Given the description of an element on the screen output the (x, y) to click on. 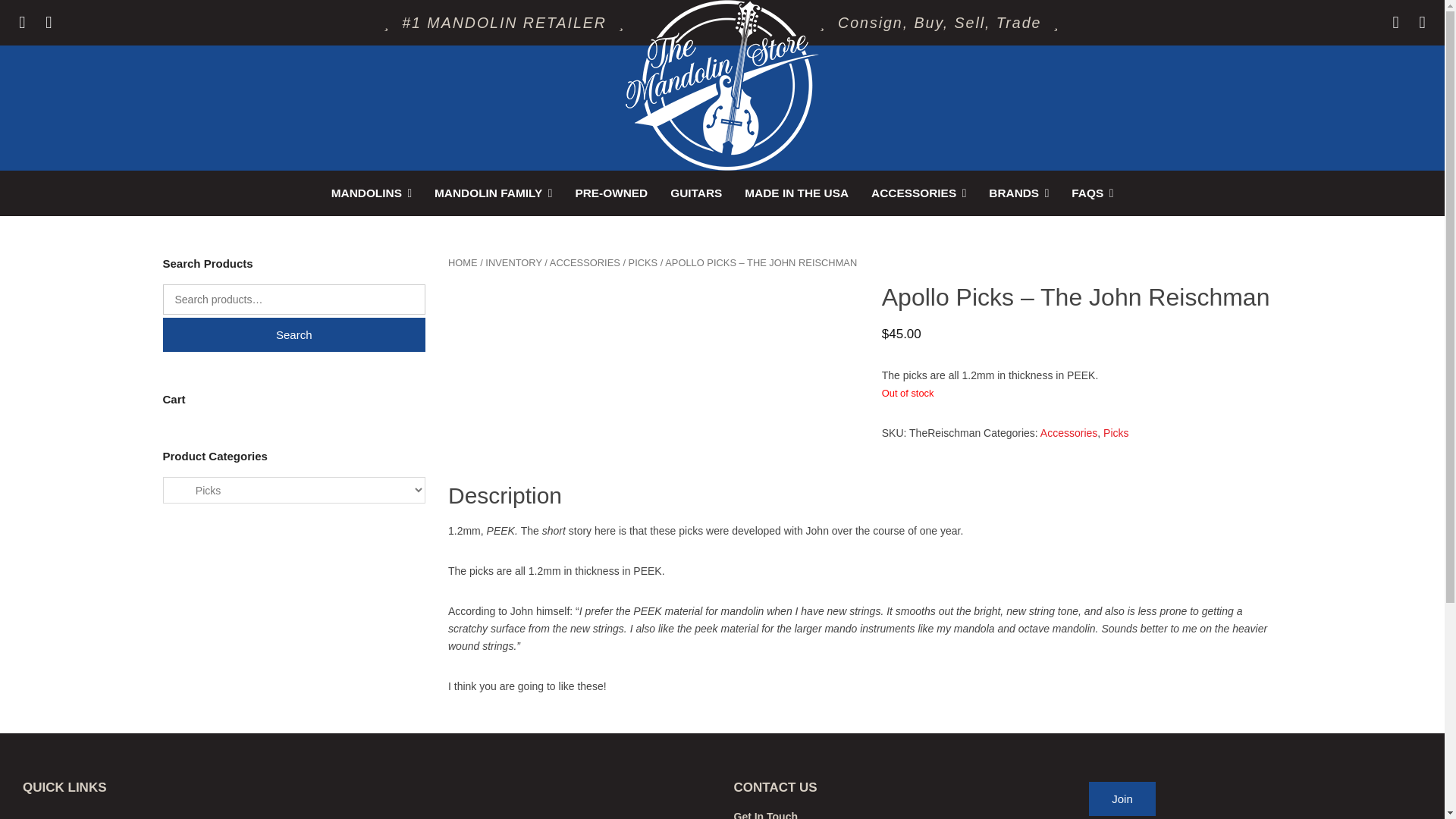
MADE IN THE USA (796, 193)
ACCESSORIES (918, 193)
BRANDS (1017, 193)
FAQS (1091, 193)
MANDOLINS (371, 193)
Join (1122, 798)
PRE-OWNED (611, 193)
GUITARS (696, 193)
MANDOLIN FAMILY (493, 193)
